Given the description of an element on the screen output the (x, y) to click on. 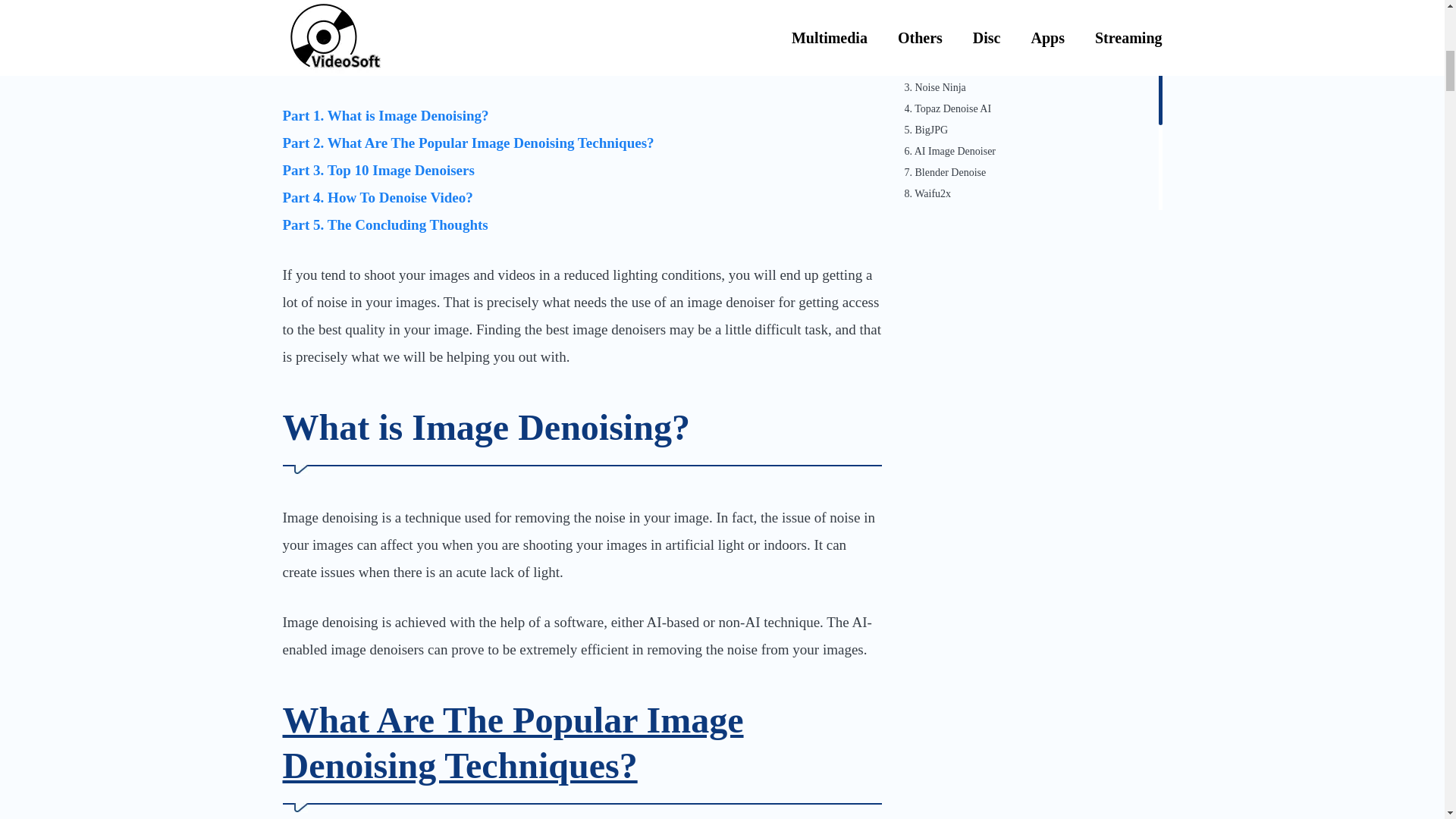
Part 1. What is Image Denoising? (384, 115)
8. Waifu2x (1030, 194)
4. Topaz Denoise AI (1030, 108)
1. Adobe Photoshop (1030, 45)
Part 2. What Are The Popular Image Denoising Techniques? (467, 142)
Top 10 Image Denoisers (1030, 2)
6. AI Image Denoiser (1030, 151)
7. Blender Denoise (1030, 172)
3. Noise Ninja (1030, 87)
Part 5. The Concluding Thoughts (384, 224)
The Concluding Thoughts (1030, 295)
Part 4. How To Denoise Video? (376, 197)
Part 3. Top 10 Image Denoisers (378, 170)
9. Pine Tools Remove Noise (1030, 215)
2. DxO PhotoLab (1030, 66)
